Given the description of an element on the screen output the (x, y) to click on. 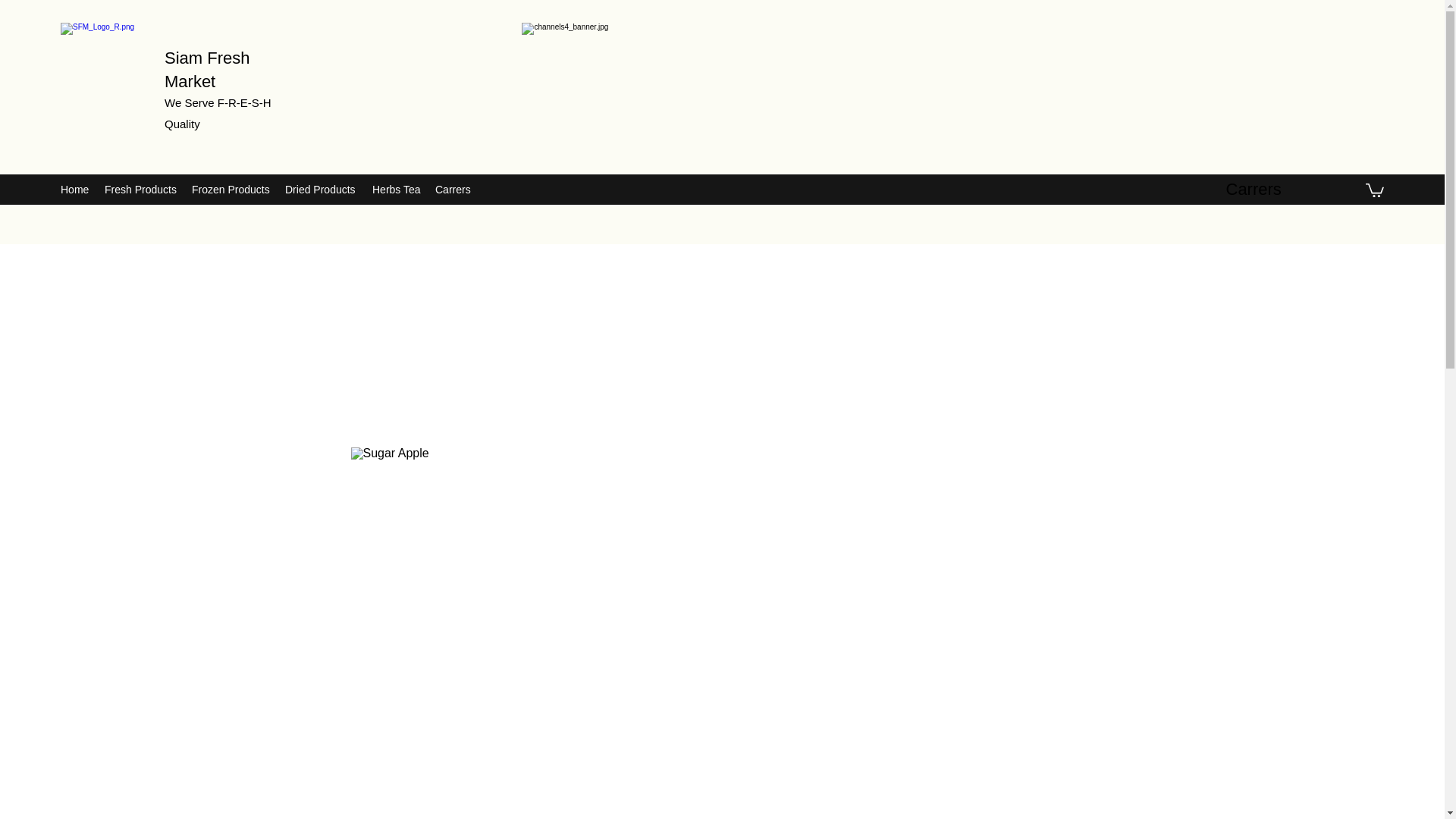
Frozen Products (231, 189)
Herbs Tea (396, 189)
Dried Products (321, 189)
Carrers (452, 189)
Home (74, 189)
